Given the description of an element on the screen output the (x, y) to click on. 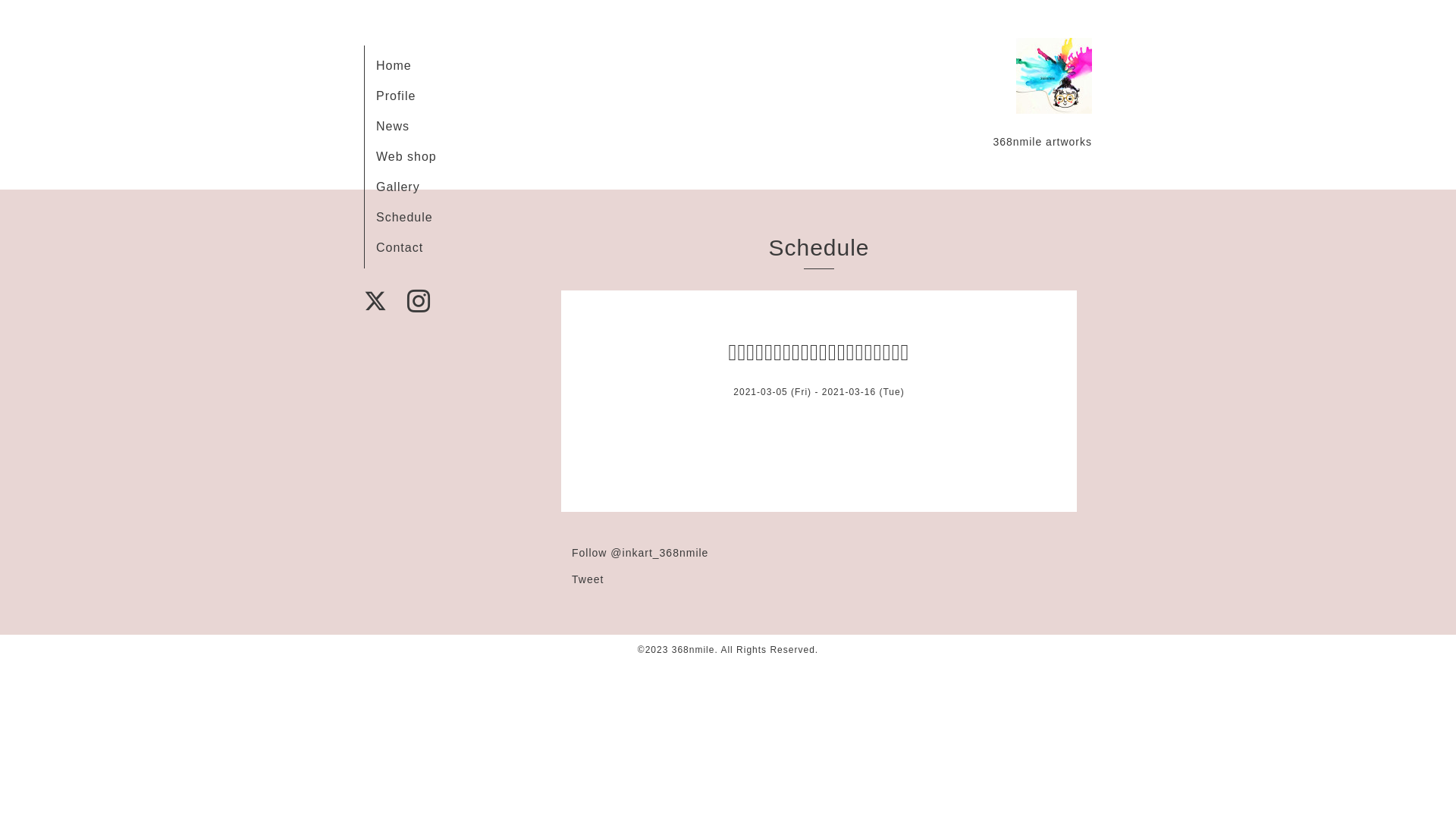
368nmile Element type: text (693, 649)
Gallery Element type: text (398, 186)
Schedule Element type: text (404, 216)
Home Element type: text (393, 65)
Web shop Element type: text (406, 156)
Tweet Element type: text (587, 579)
Contact Element type: text (399, 247)
Follow @inkart_368nmile Element type: text (639, 552)
Profile Element type: text (395, 95)
News Element type: text (392, 125)
